Given the description of an element on the screen output the (x, y) to click on. 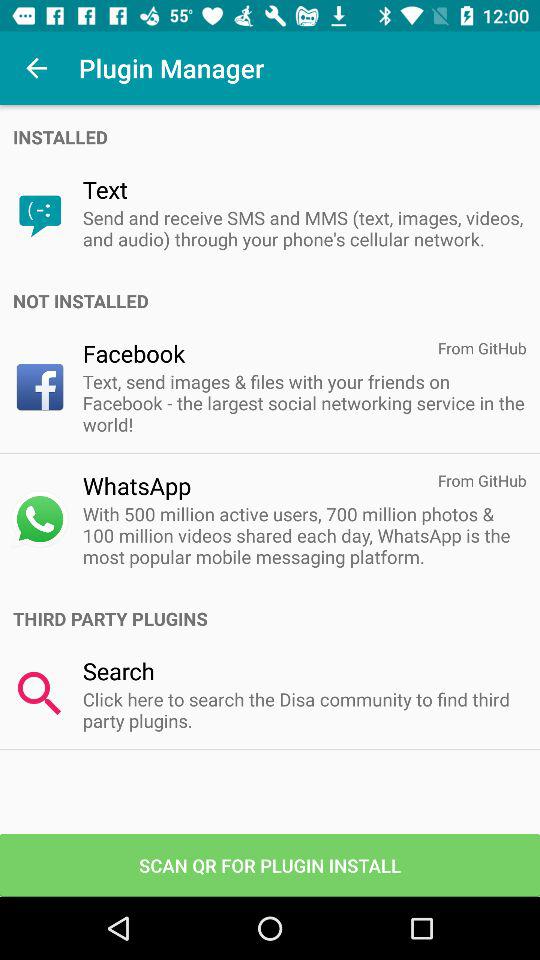
click the app above from github (276, 300)
